Given the description of an element on the screen output the (x, y) to click on. 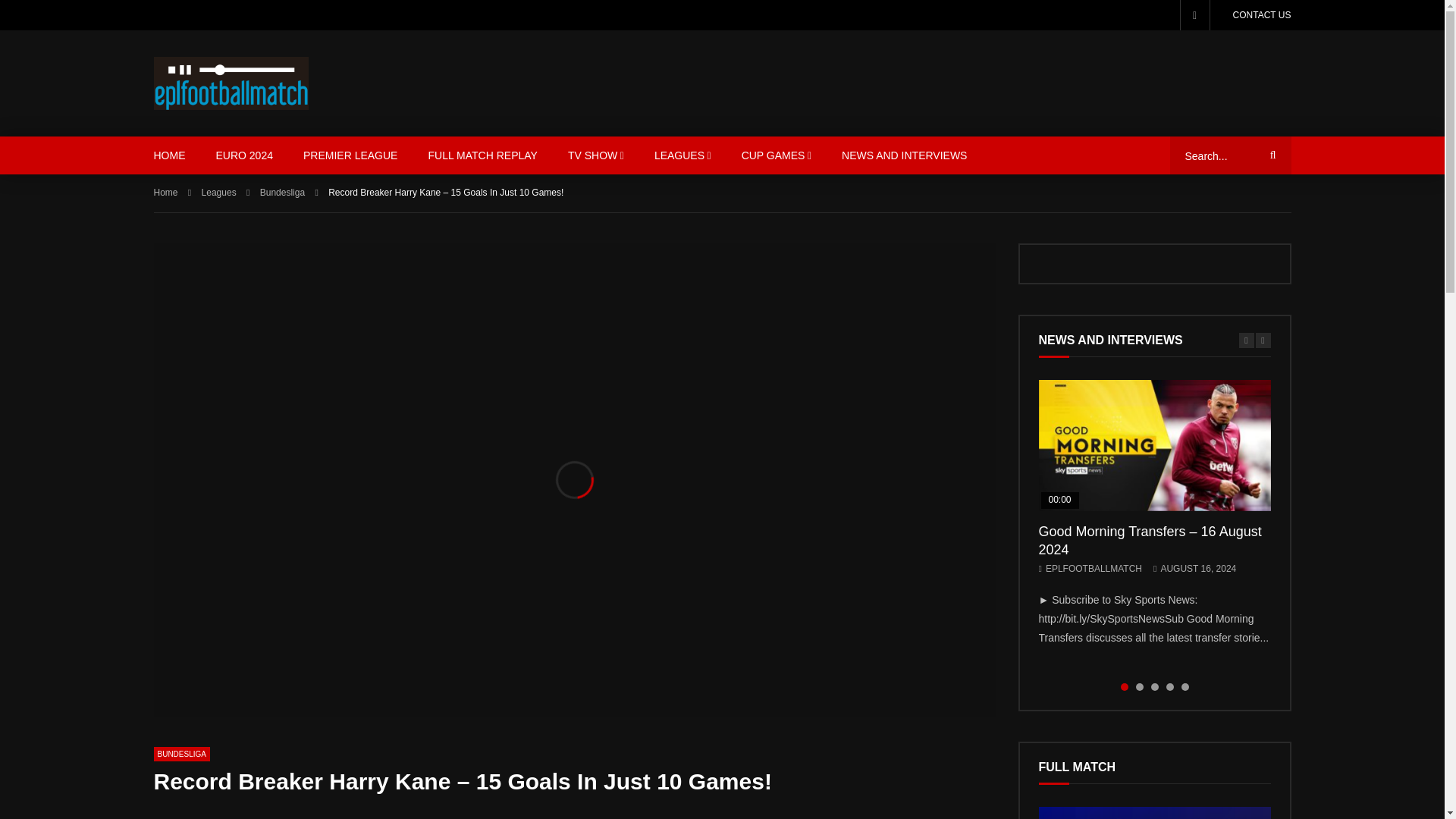
Leagues (218, 192)
Eplfootballmatch.com (230, 82)
CONTACT US (1262, 15)
Notifications (1194, 15)
CUP GAMES (776, 155)
Search (1270, 155)
FULL MATCH REPLAY (481, 155)
Search (1270, 155)
Bundesliga (180, 753)
LEAGUES (682, 155)
